Given the description of an element on the screen output the (x, y) to click on. 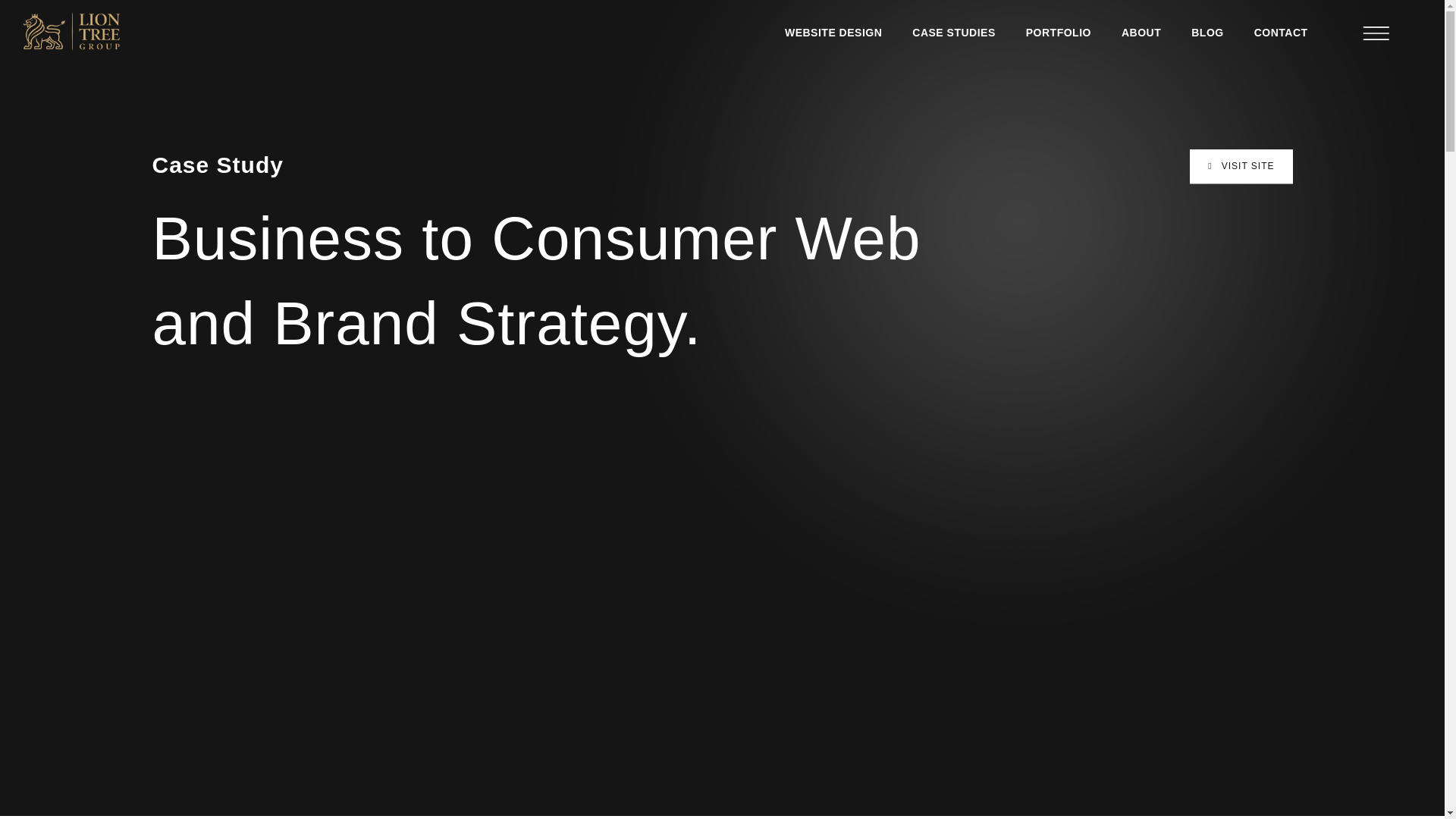
WEBSITE DESIGN (833, 32)
BLOG (1207, 32)
CONTACT (1281, 32)
VISIT SITE (1240, 166)
CASE STUDIES (953, 32)
ABOUT (1141, 32)
PORTFOLIO (1058, 32)
